Given the description of an element on the screen output the (x, y) to click on. 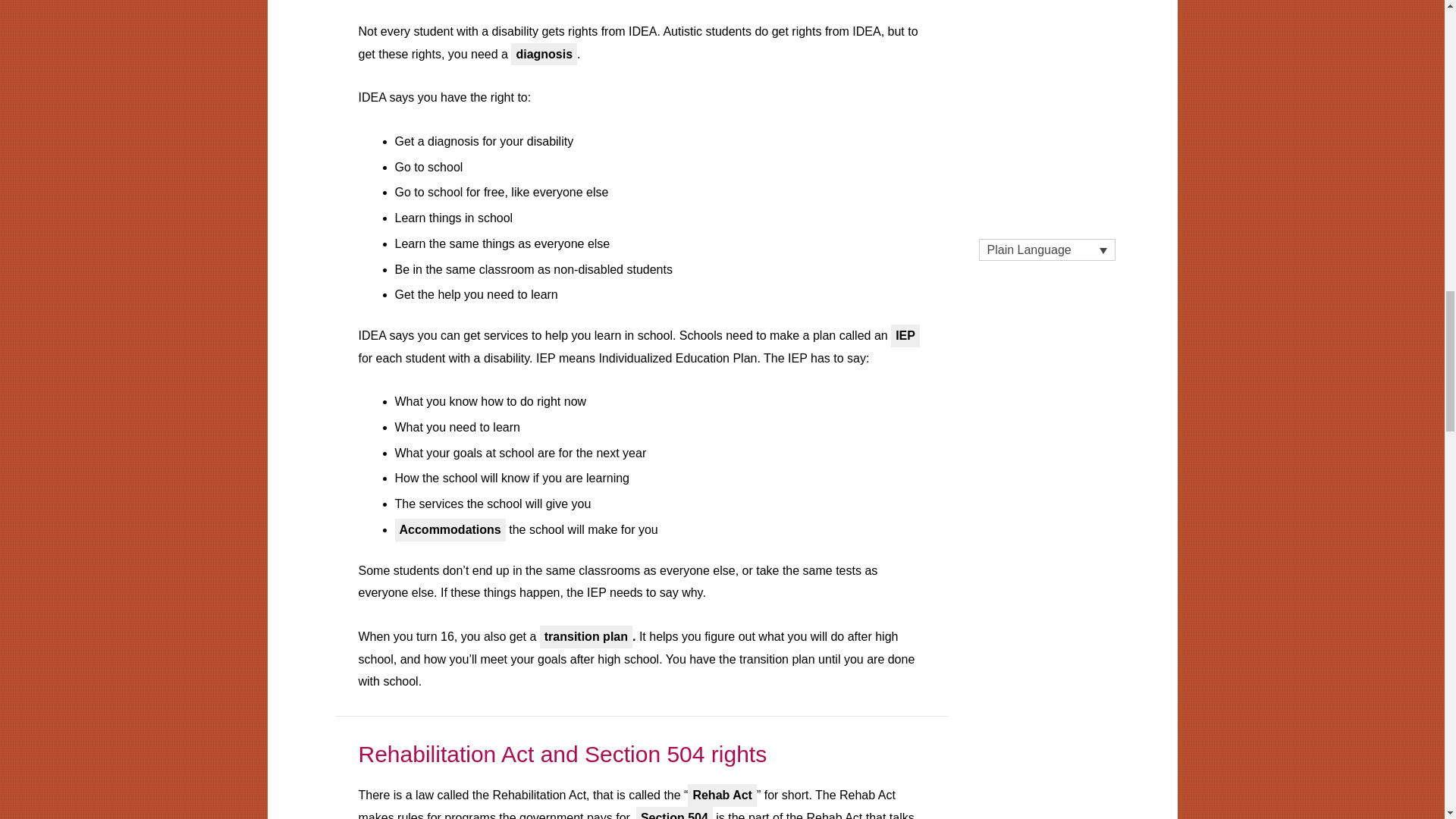
Rehabilitation Act and Section 504 rights (562, 754)
Rehabilitation Act and Section 504 rights (562, 754)
